Given the description of an element on the screen output the (x, y) to click on. 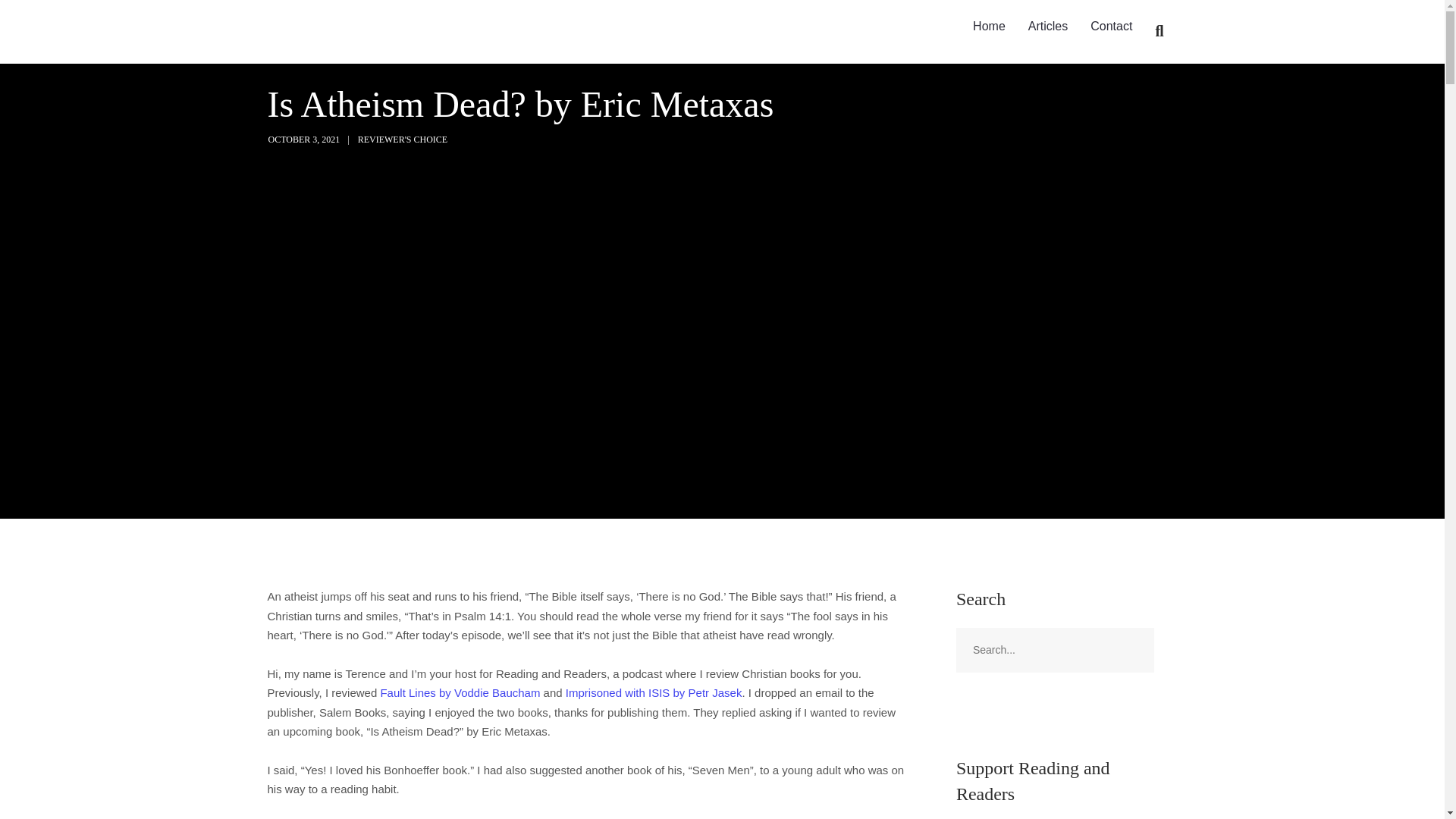
Imprisoned with ISIS by Petr Jasek (654, 692)
Submit (31, 22)
Fault Lines by Voddie Baucham (460, 692)
Submit (29, 20)
Home (988, 26)
Articles (1047, 26)
Contact (1110, 26)
